Given the description of an element on the screen output the (x, y) to click on. 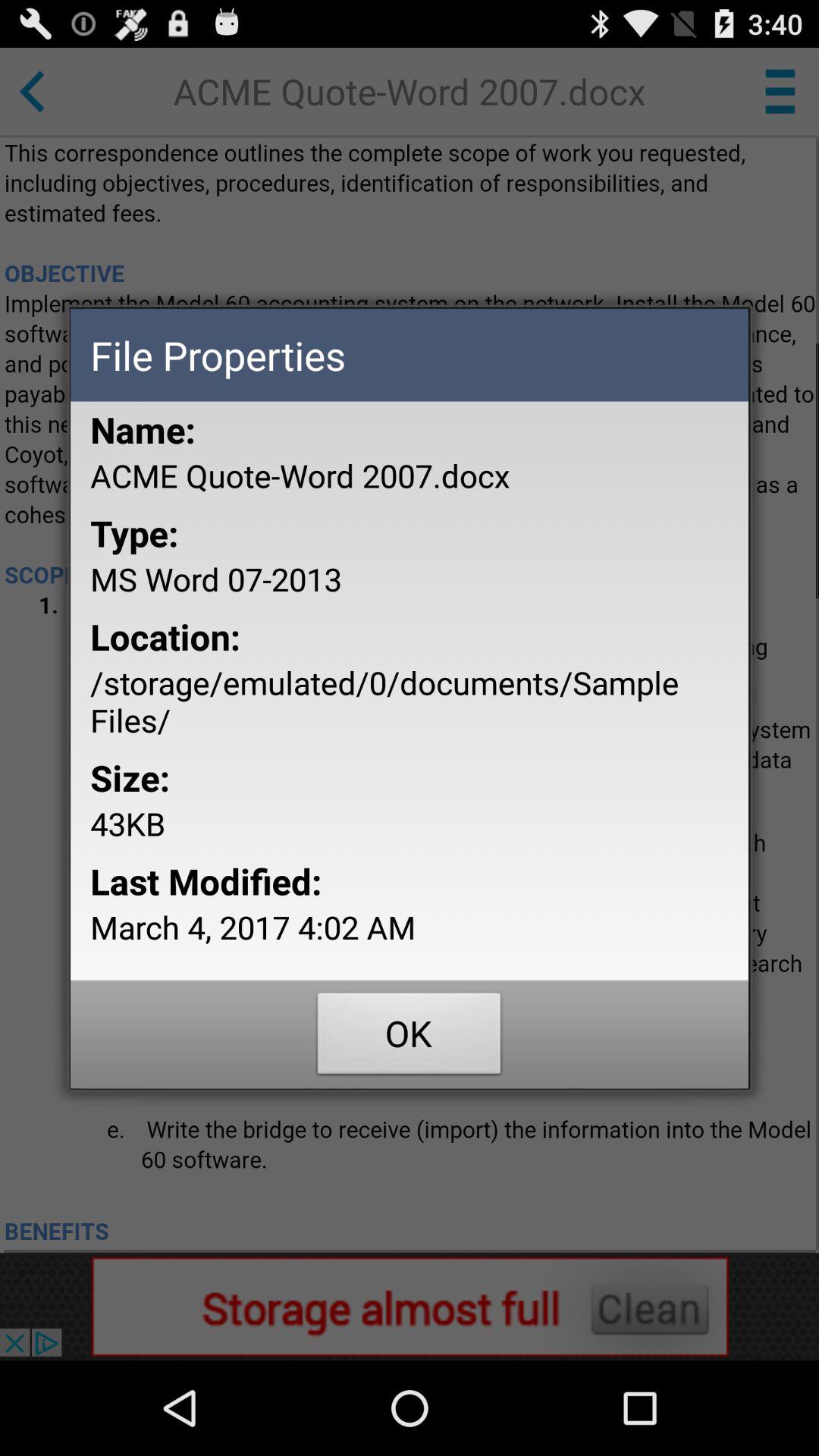
jump to the ok (409, 1037)
